Given the description of an element on the screen output the (x, y) to click on. 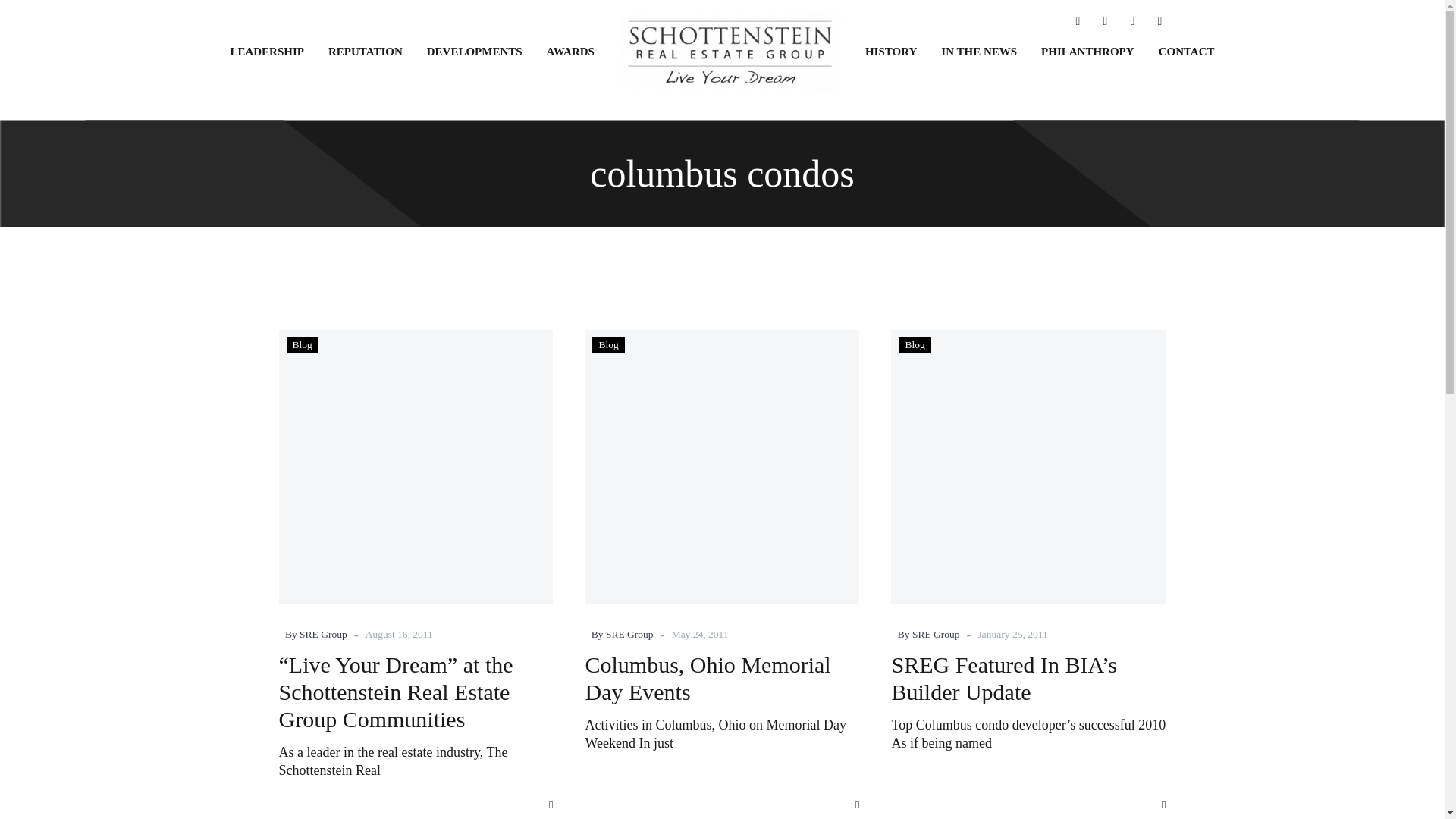
HISTORY (890, 51)
IN THE NEWS (978, 51)
AWARDS (570, 51)
LEADERSHIP (265, 51)
REPUTATION (364, 51)
Columbus, Ohio Memorial Day Events (707, 677)
CONTACT (1187, 51)
Blog (302, 344)
Columbus, Ohio Memorial Day Events (722, 467)
PHILANTHROPY (1088, 51)
Blog (607, 344)
DEVELOPMENTS (474, 51)
